Given the description of an element on the screen output the (x, y) to click on. 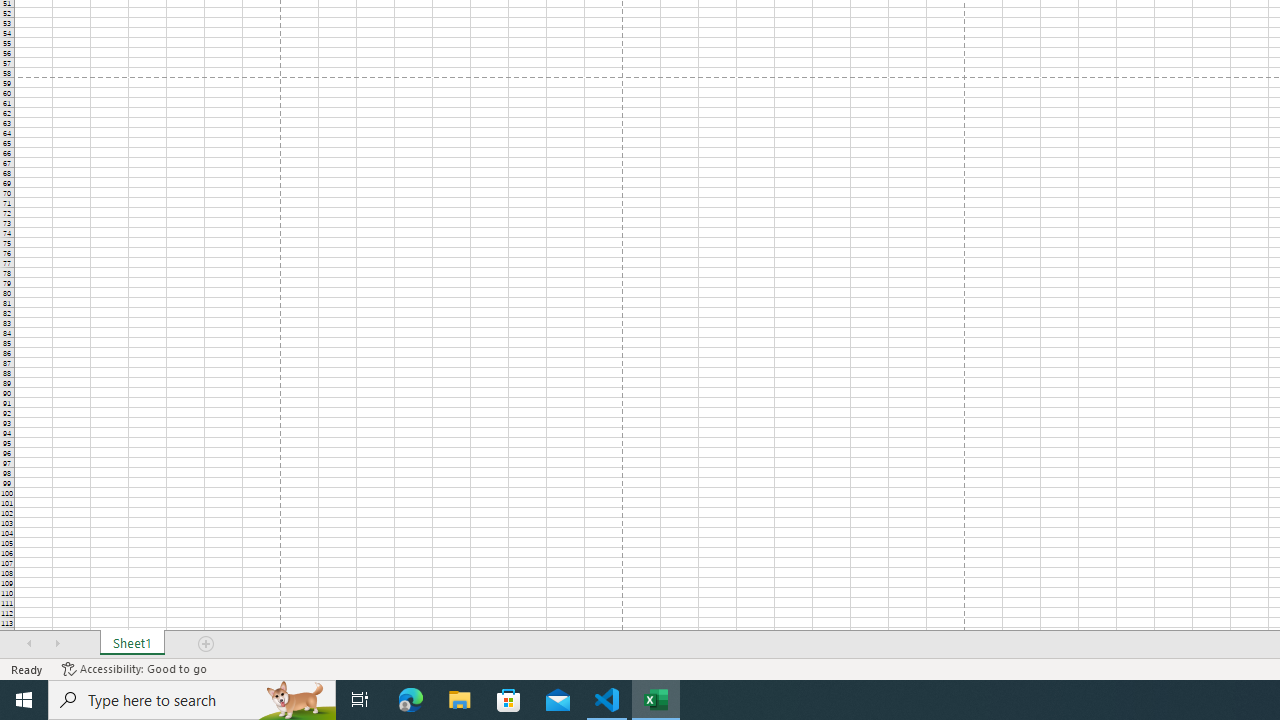
Add Sheet (207, 644)
Accessibility Checker Accessibility: Good to go (134, 668)
Sheet1 (132, 644)
Scroll Right (57, 644)
Scroll Left (29, 644)
